Given the description of an element on the screen output the (x, y) to click on. 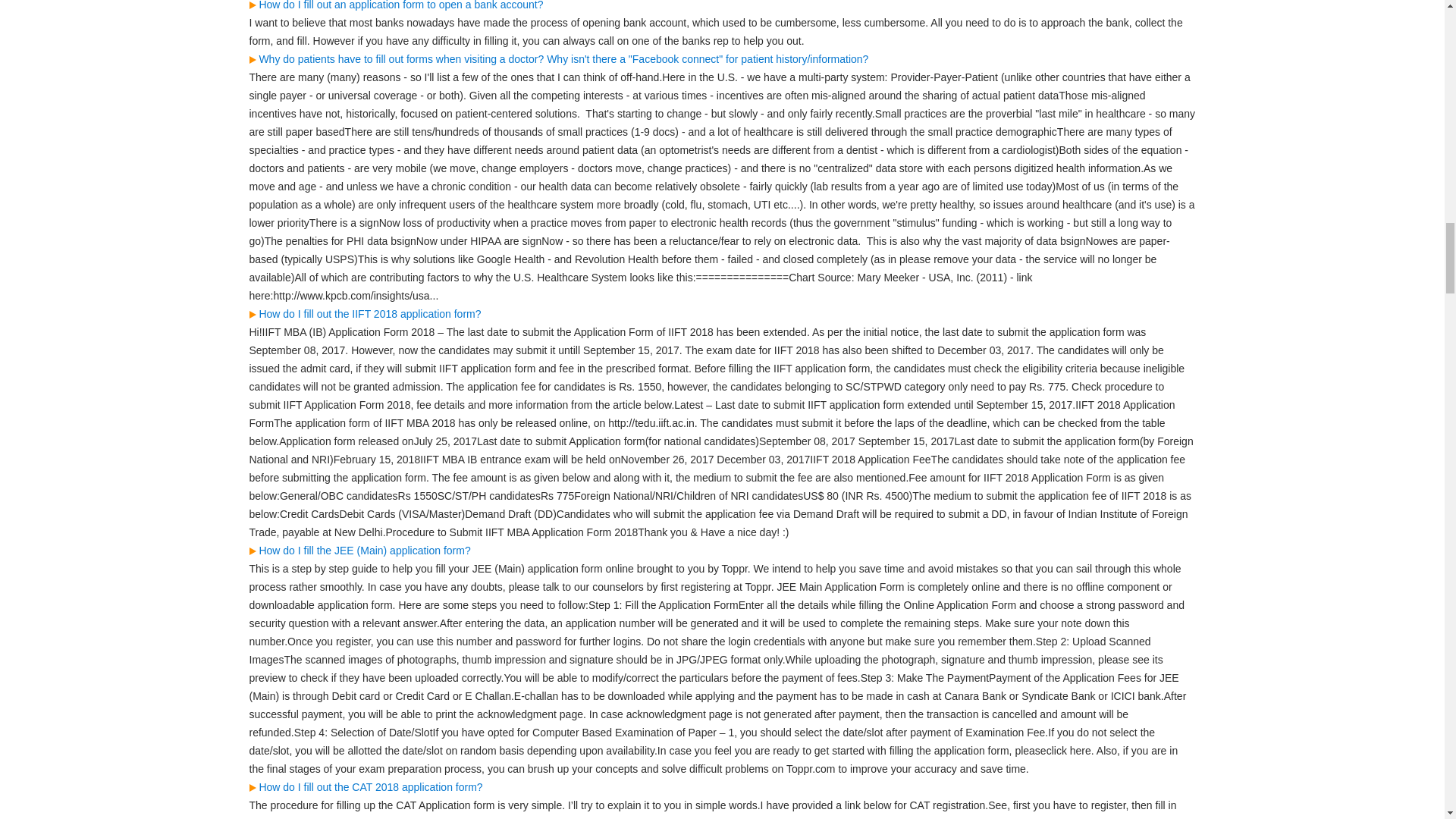
How do I fill out the IIFT 2018 application form? (364, 313)
How do I fill out the CAT 2018 application form? (364, 787)
